Given the description of an element on the screen output the (x, y) to click on. 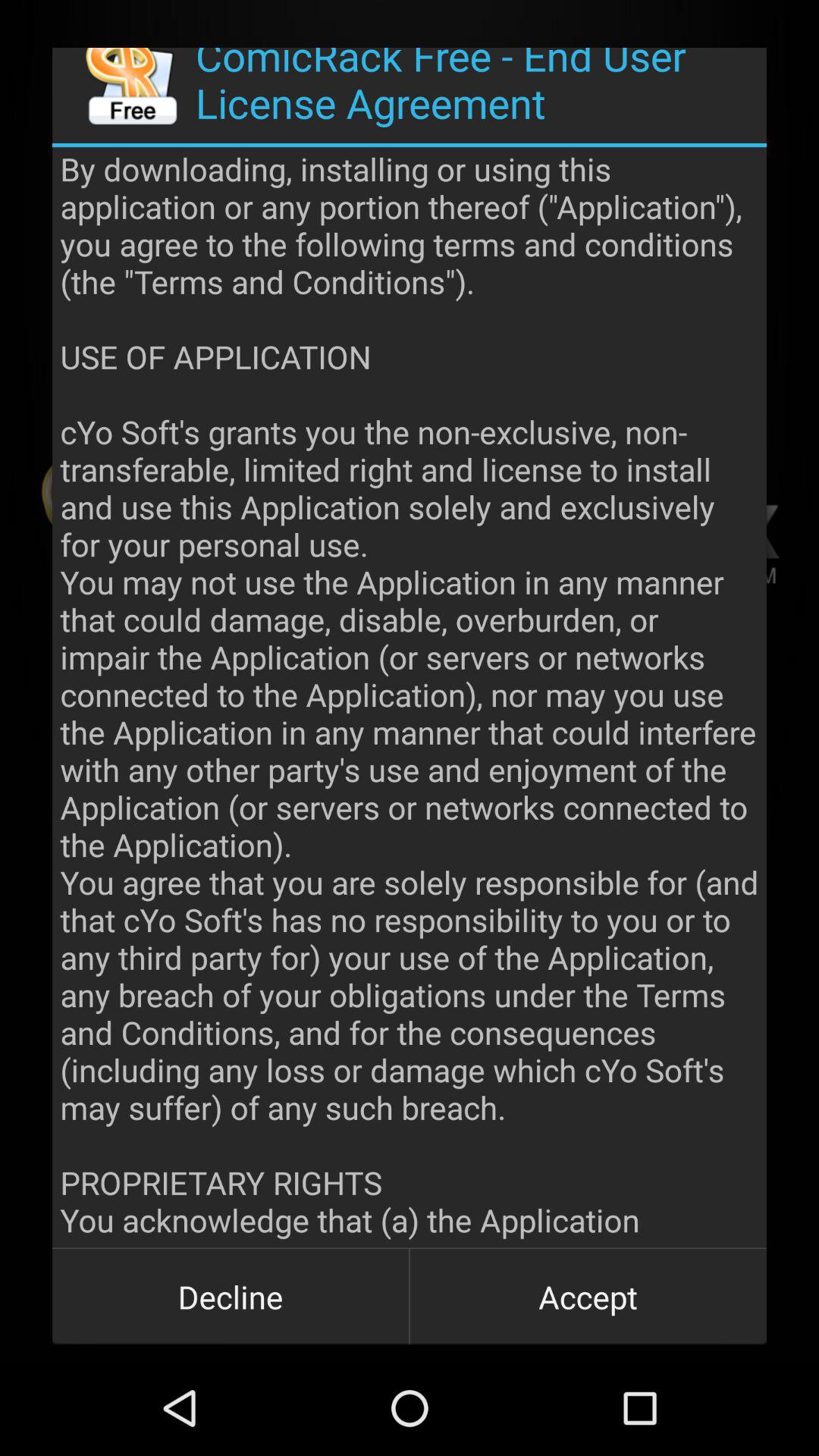
select the app at the center (409, 697)
